Given the description of an element on the screen output the (x, y) to click on. 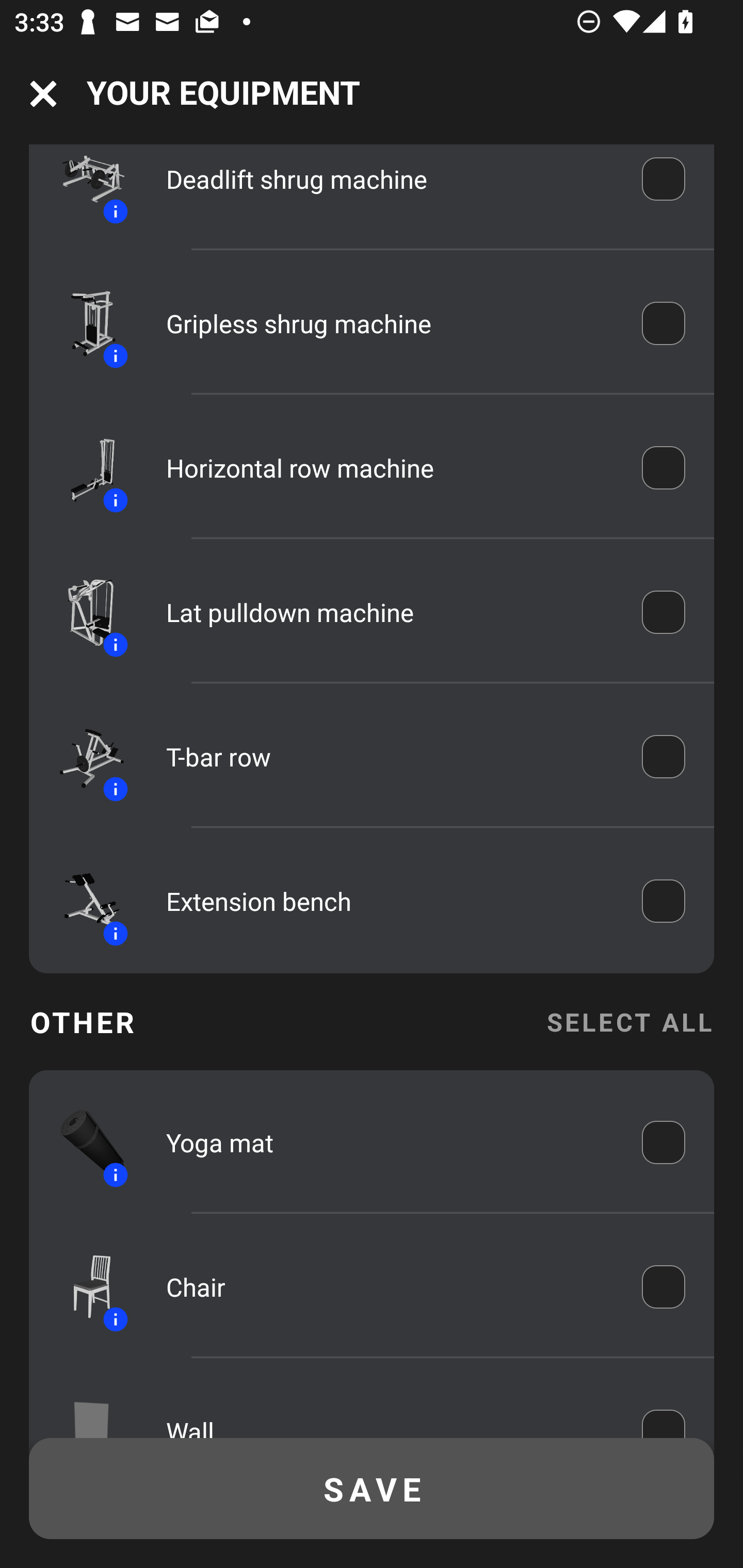
Navigation icon (43, 93)
Equipment icon Information icon (82, 188)
Deadlift shrug machine (389, 183)
Equipment icon Information icon (82, 323)
Gripless shrug machine (389, 323)
Equipment icon Information icon (82, 467)
Horizontal row machine (389, 467)
Equipment icon Information icon (82, 612)
Lat pulldown machine (389, 612)
Equipment icon Information icon (82, 756)
T-bar row (389, 756)
Equipment icon Information icon (82, 900)
Extension bench (389, 900)
SELECT ALL (629, 1021)
Equipment icon Information icon (82, 1142)
Yoga mat (389, 1142)
Equipment icon Information icon (82, 1286)
Chair (389, 1286)
Equipment icon (82, 1406)
Wall (389, 1412)
SAVE (371, 1488)
